Given the description of an element on the screen output the (x, y) to click on. 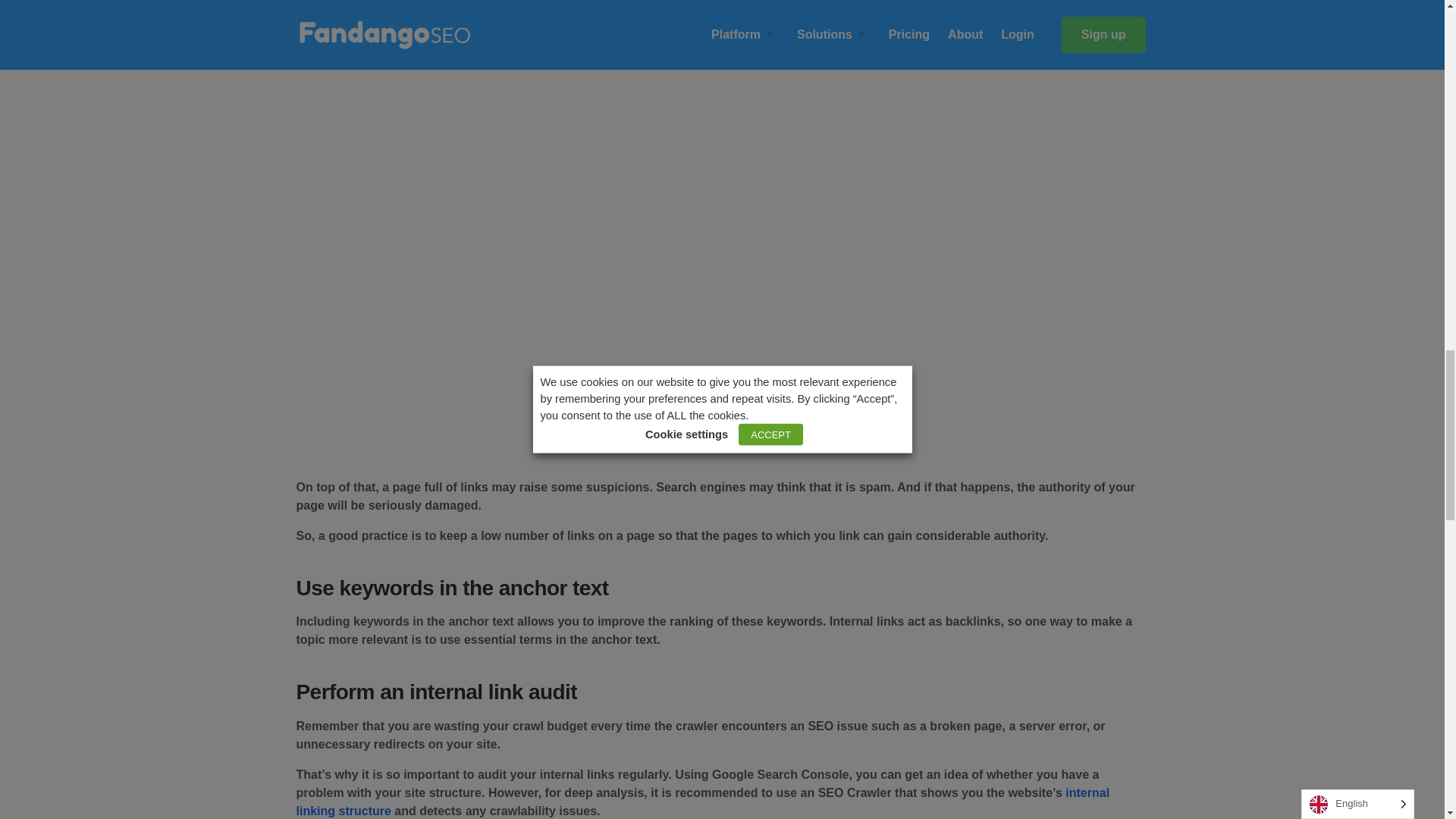
internal linking structure (702, 801)
